Given the description of an element on the screen output the (x, y) to click on. 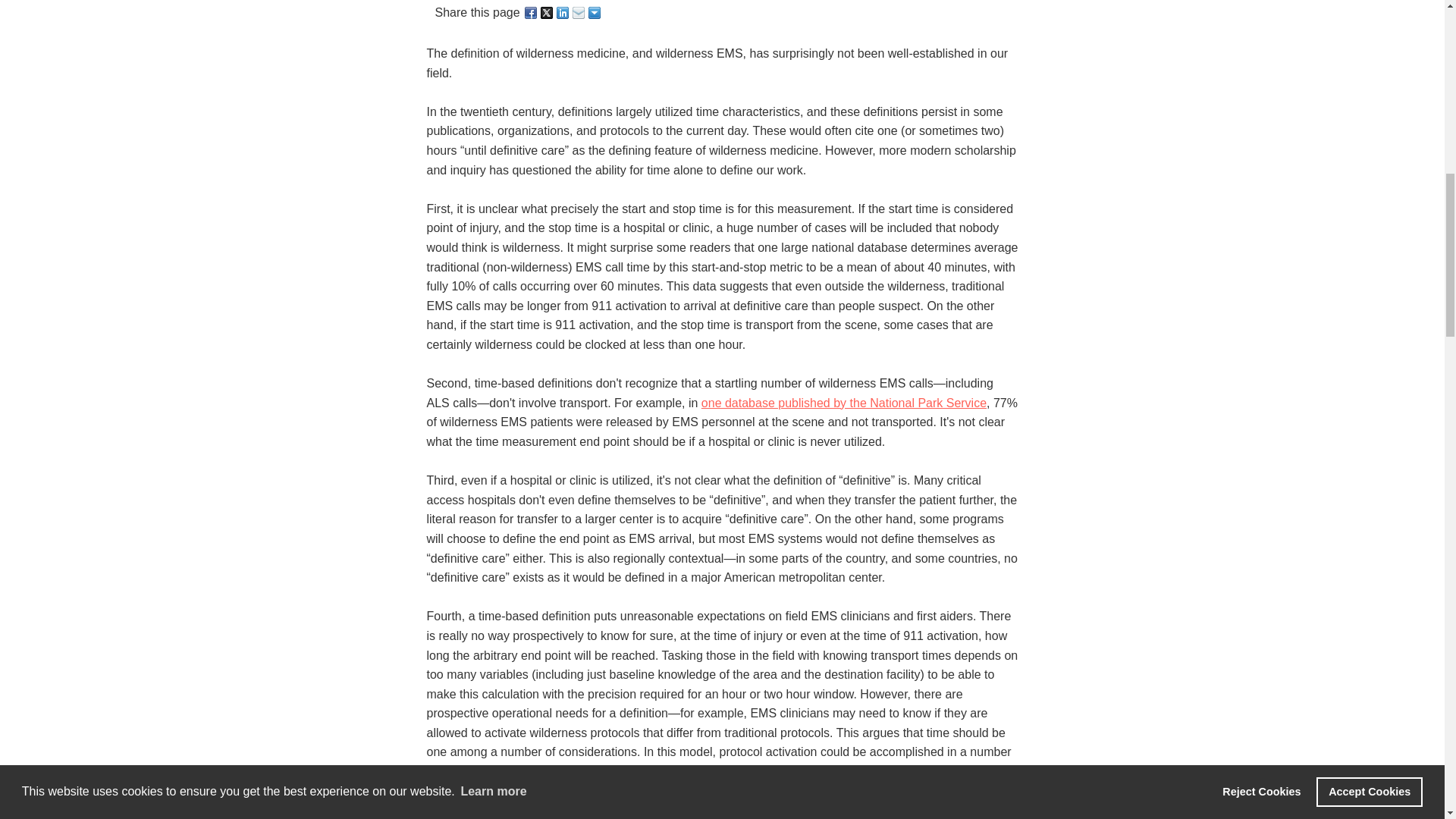
Email (579, 12)
Show more (595, 12)
Share on LinkedIn (563, 12)
Tell a friend (579, 12)
Tweet this (547, 12)
Share on Facebook (531, 12)
Share on LinkedIn (563, 12)
Share on Facebook (531, 12)
More options (595, 12)
